Given the description of an element on the screen output the (x, y) to click on. 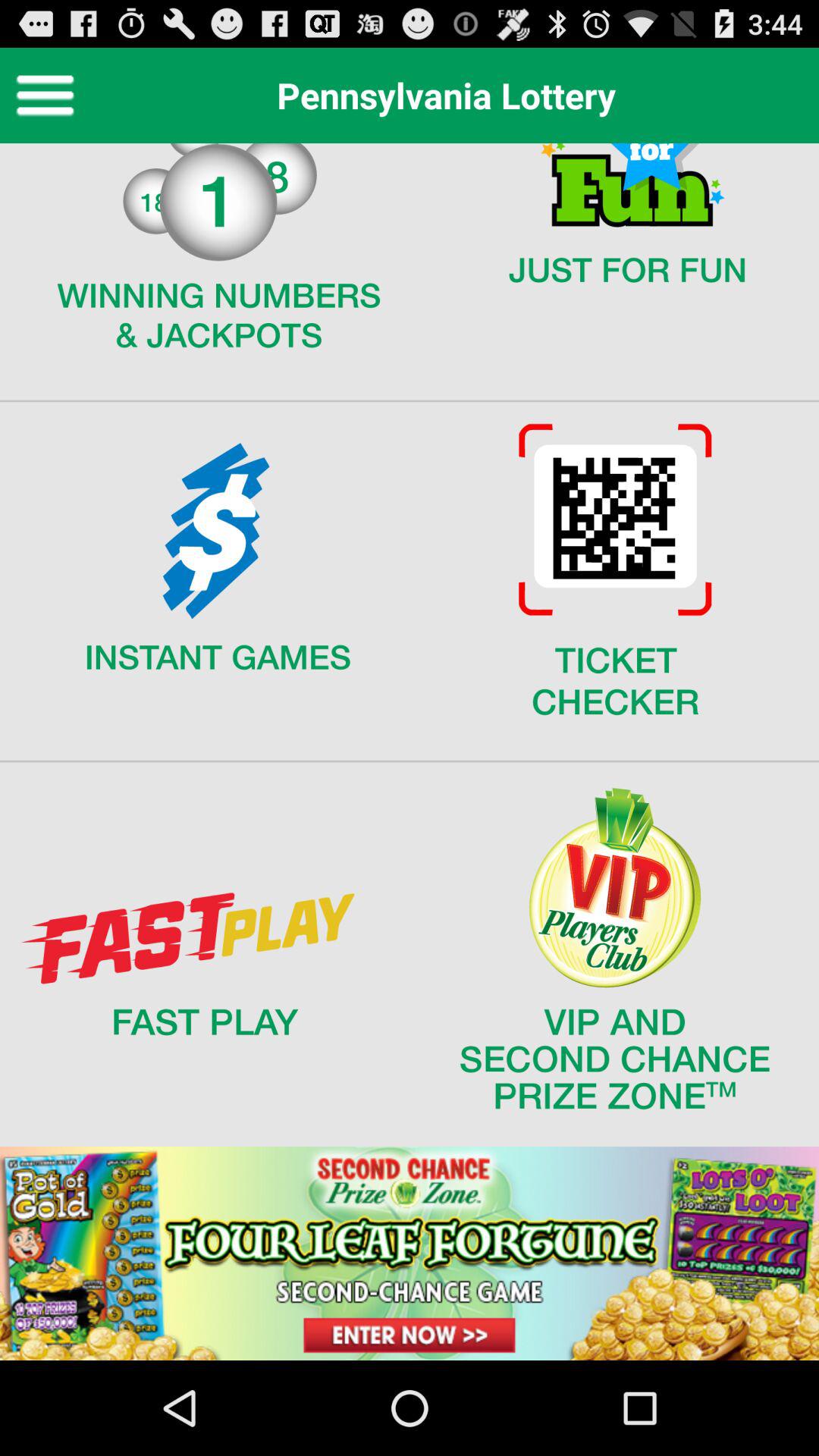
go to different pages (409, 751)
